Given the description of an element on the screen output the (x, y) to click on. 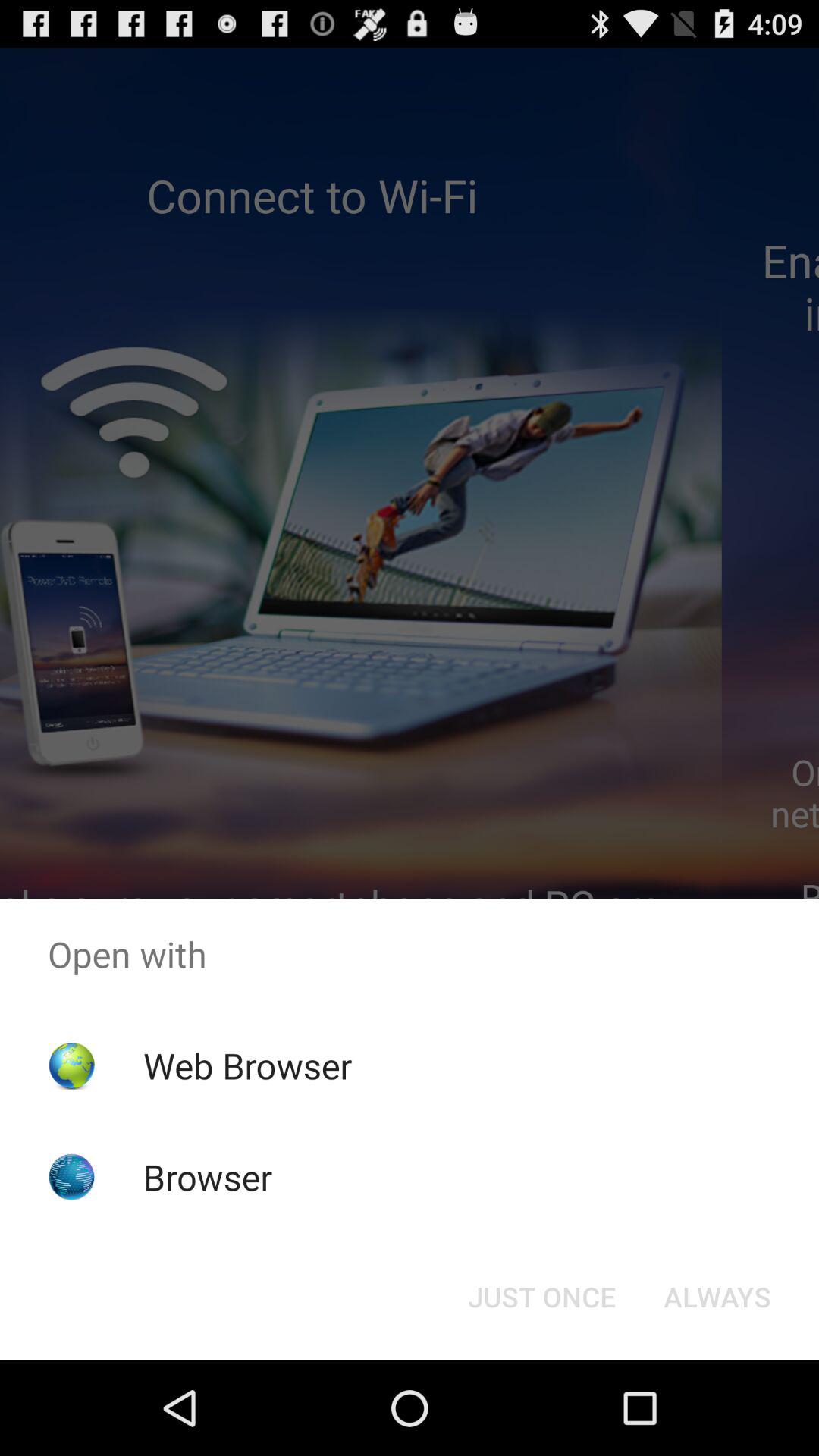
select button at the bottom (541, 1296)
